Given the description of an element on the screen output the (x, y) to click on. 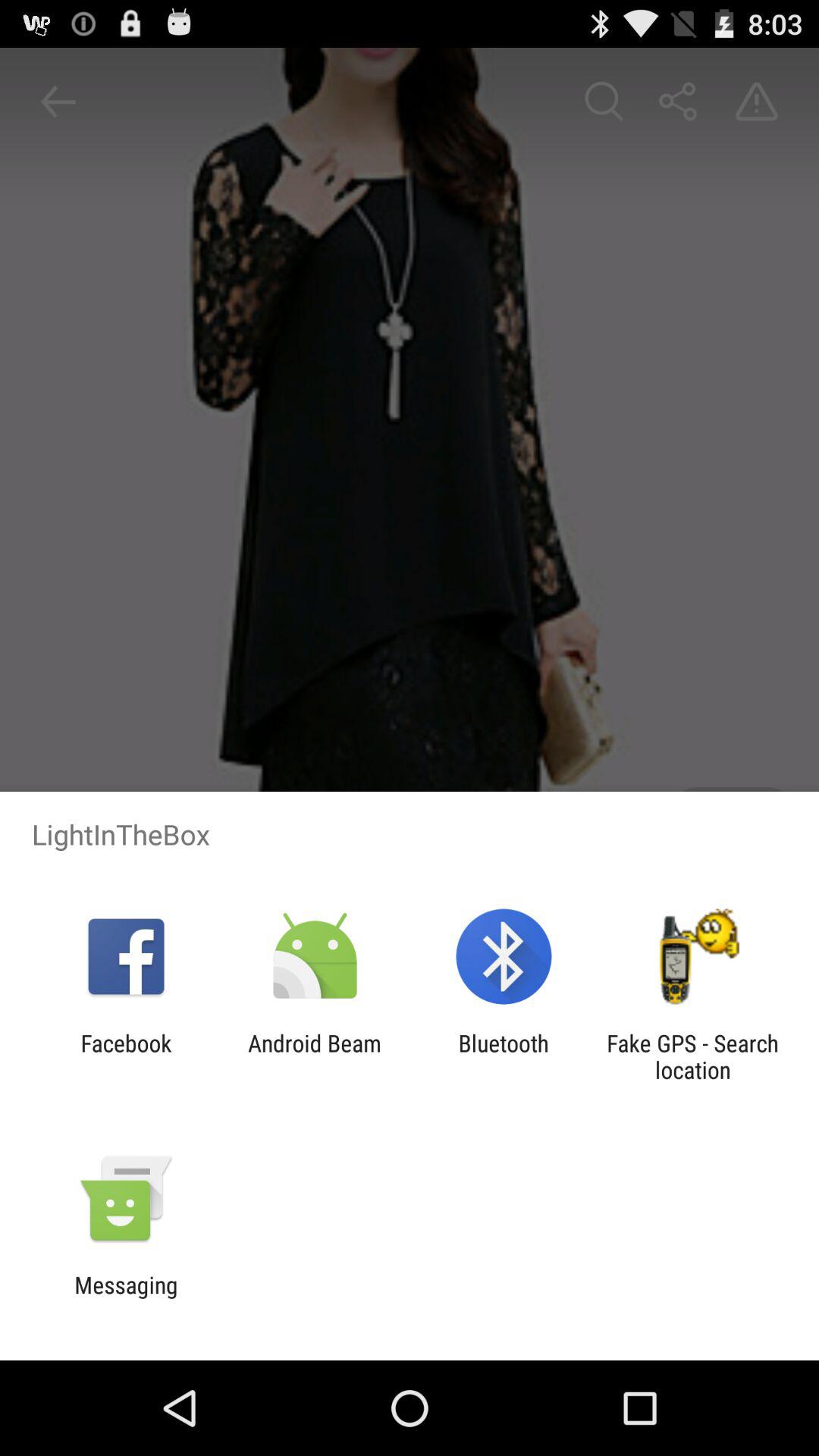
turn off the item next to the fake gps search icon (503, 1056)
